Given the description of an element on the screen output the (x, y) to click on. 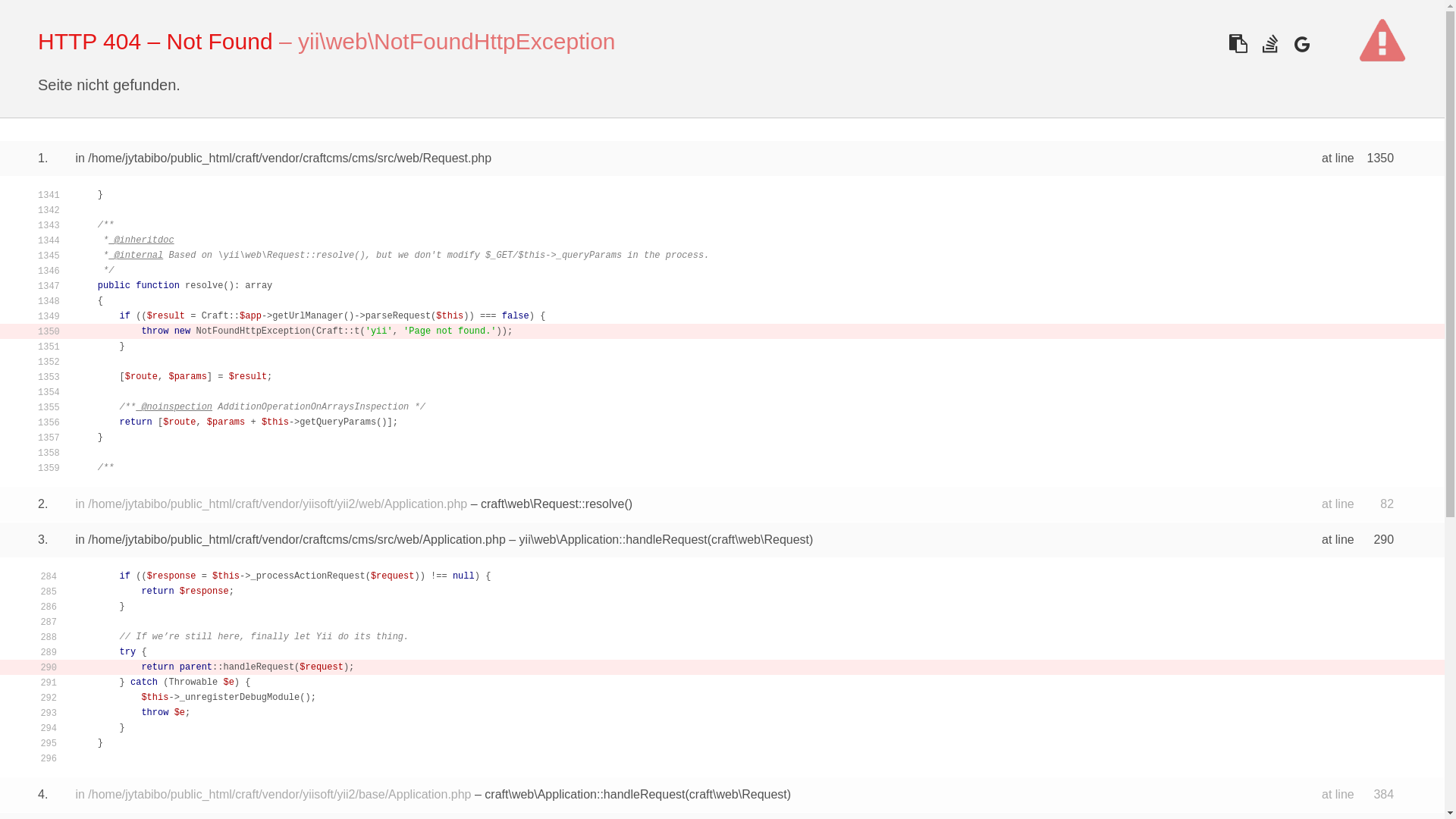
Search error on Google Element type: hover (1301, 43)
Copy the stacktrace for use in a bug report or pastebin Element type: hover (1237, 43)
yii\web\NotFoundHttpException Element type: text (456, 40)
yii\web\Application::handleRequest Element type: text (613, 539)
Search error on Stackoverflow Element type: hover (1269, 43)
